Given the description of an element on the screen output the (x, y) to click on. 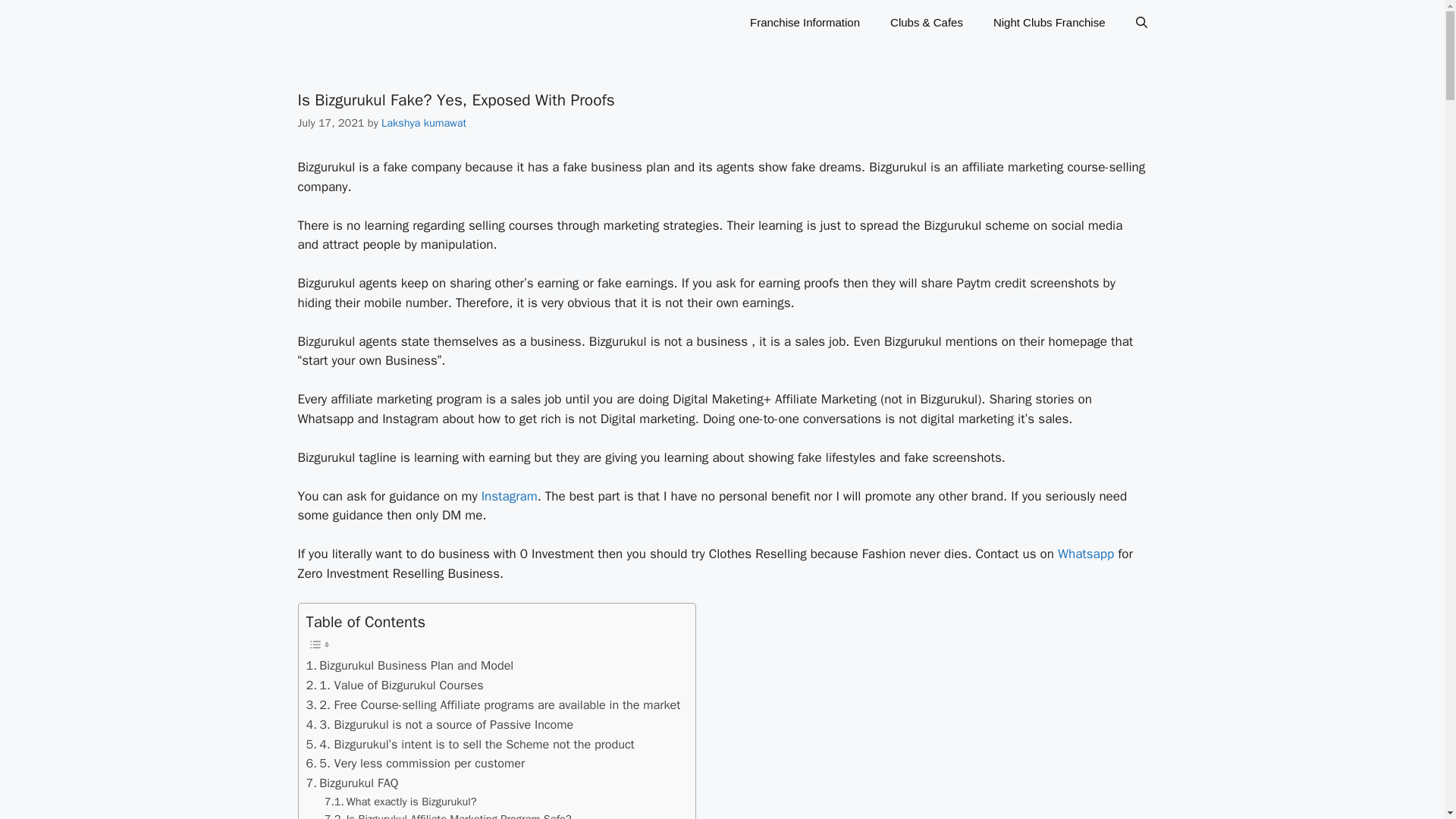
What exactly is Bizgurukul? (400, 801)
Is Bizgurukul Affiliate Marketing Program Safe? (448, 814)
3. Bizgurukul is not a source of Passive Income (439, 724)
Bizgurukul FAQ (351, 783)
Is Bizgurukul Affiliate Marketing Program Safe? (448, 814)
Bizgurukul FAQ (351, 783)
1. Value of Bizgurukul Courses (394, 685)
Bizgurukul Business Plan and Model (409, 665)
3. Bizgurukul is not a source of Passive Income (439, 724)
What exactly is Bizgurukul? (400, 801)
